Given the description of an element on the screen output the (x, y) to click on. 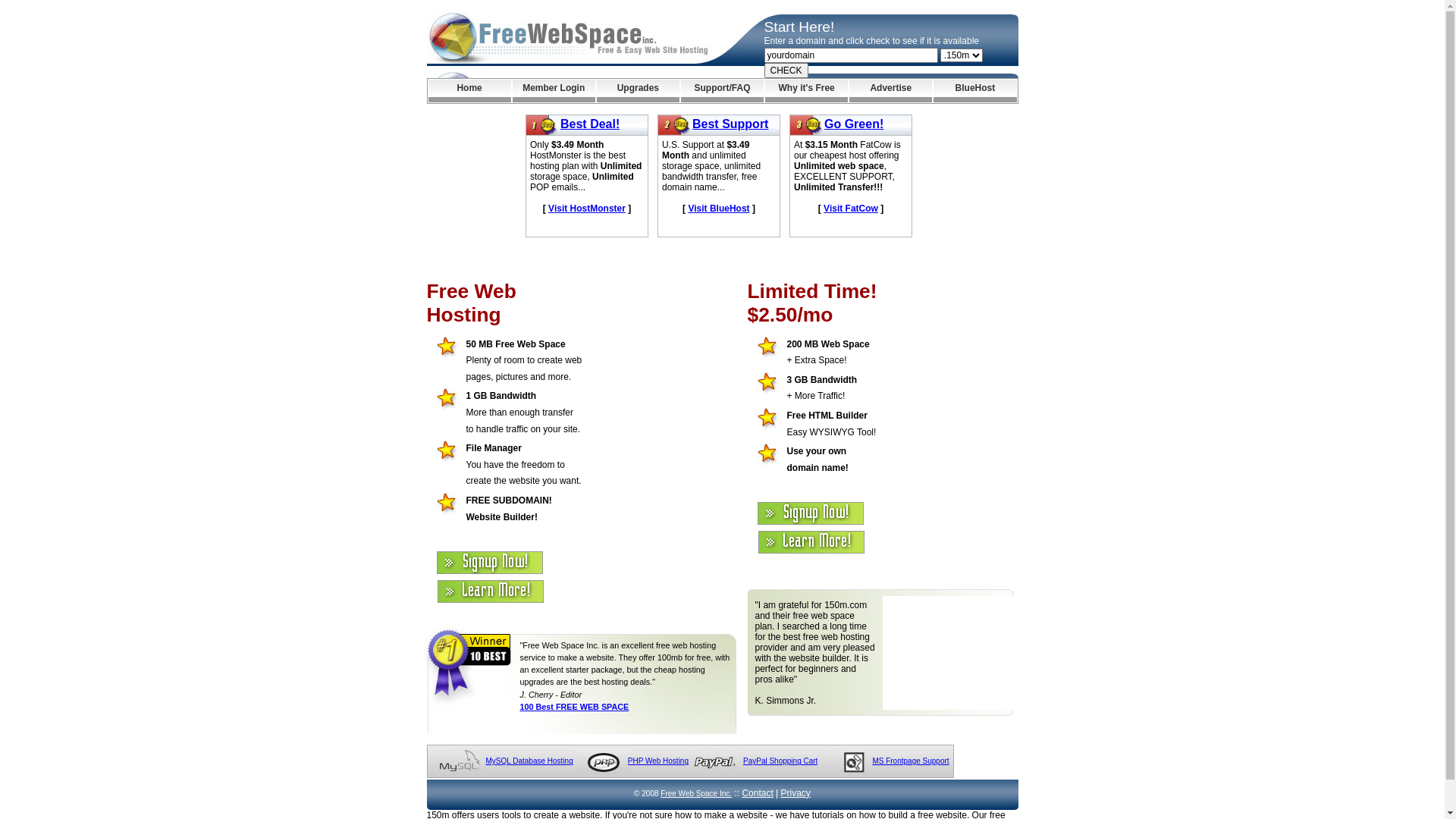
Upgrades Element type: text (637, 90)
MS Frontpage Support Element type: text (910, 760)
100 Best FREE WEB SPACE Element type: text (574, 706)
Free Web Space Inc. Element type: text (695, 793)
Home Element type: text (468, 90)
BlueHost Element type: text (974, 90)
Privacy Element type: text (795, 792)
CHECK Element type: text (786, 70)
Member Login Element type: text (553, 90)
Support/FAQ Element type: text (721, 90)
PHP Web Hosting Element type: text (657, 760)
MySQL Database Hosting Element type: text (528, 760)
Advertise Element type: text (890, 90)
Why it's Free Element type: text (806, 90)
PayPal Shopping Cart Element type: text (780, 760)
Contact Element type: text (756, 792)
